Given the description of an element on the screen output the (x, y) to click on. 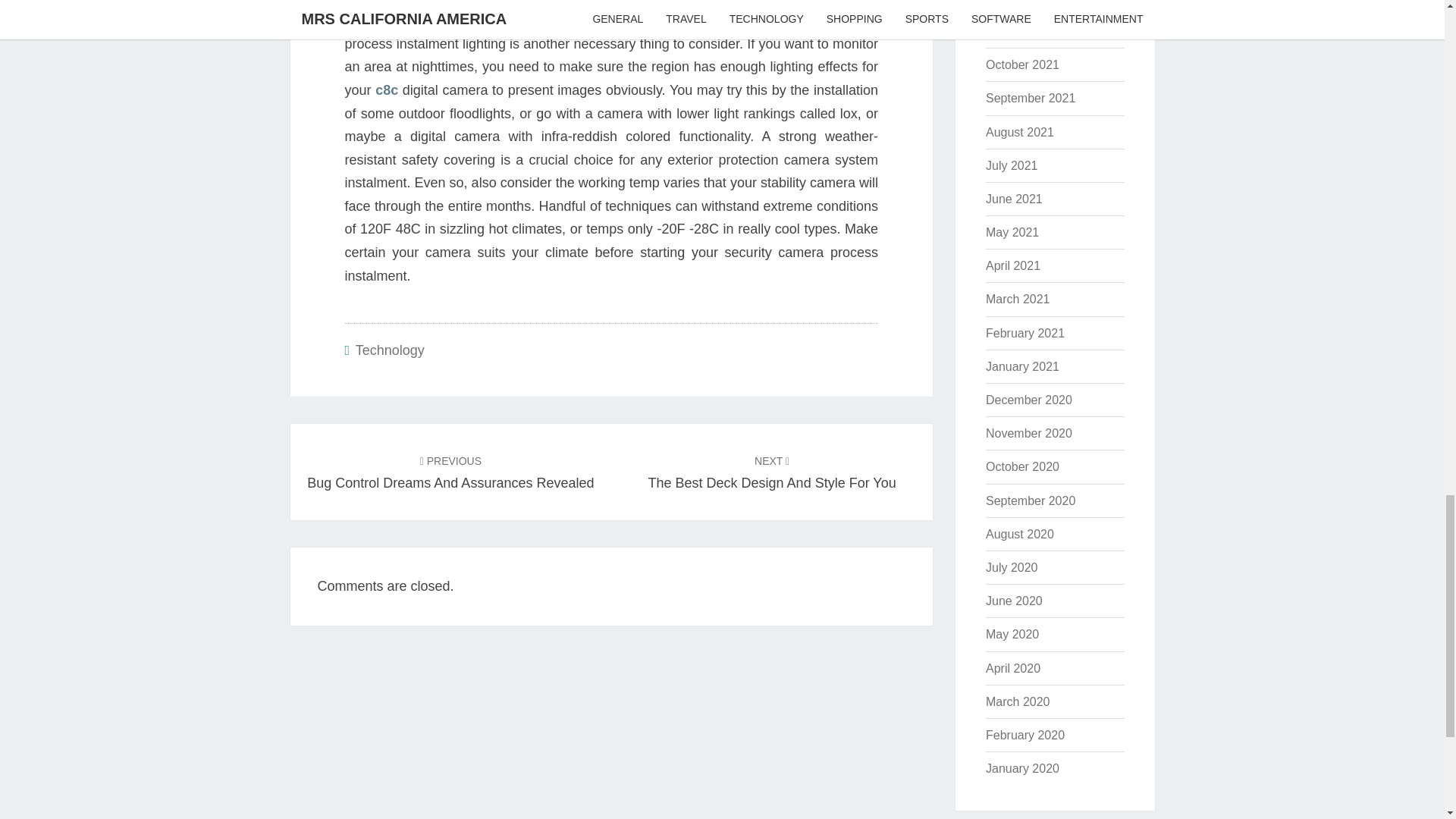
c8c (386, 89)
Technology (390, 350)
